Given the description of an element on the screen output the (x, y) to click on. 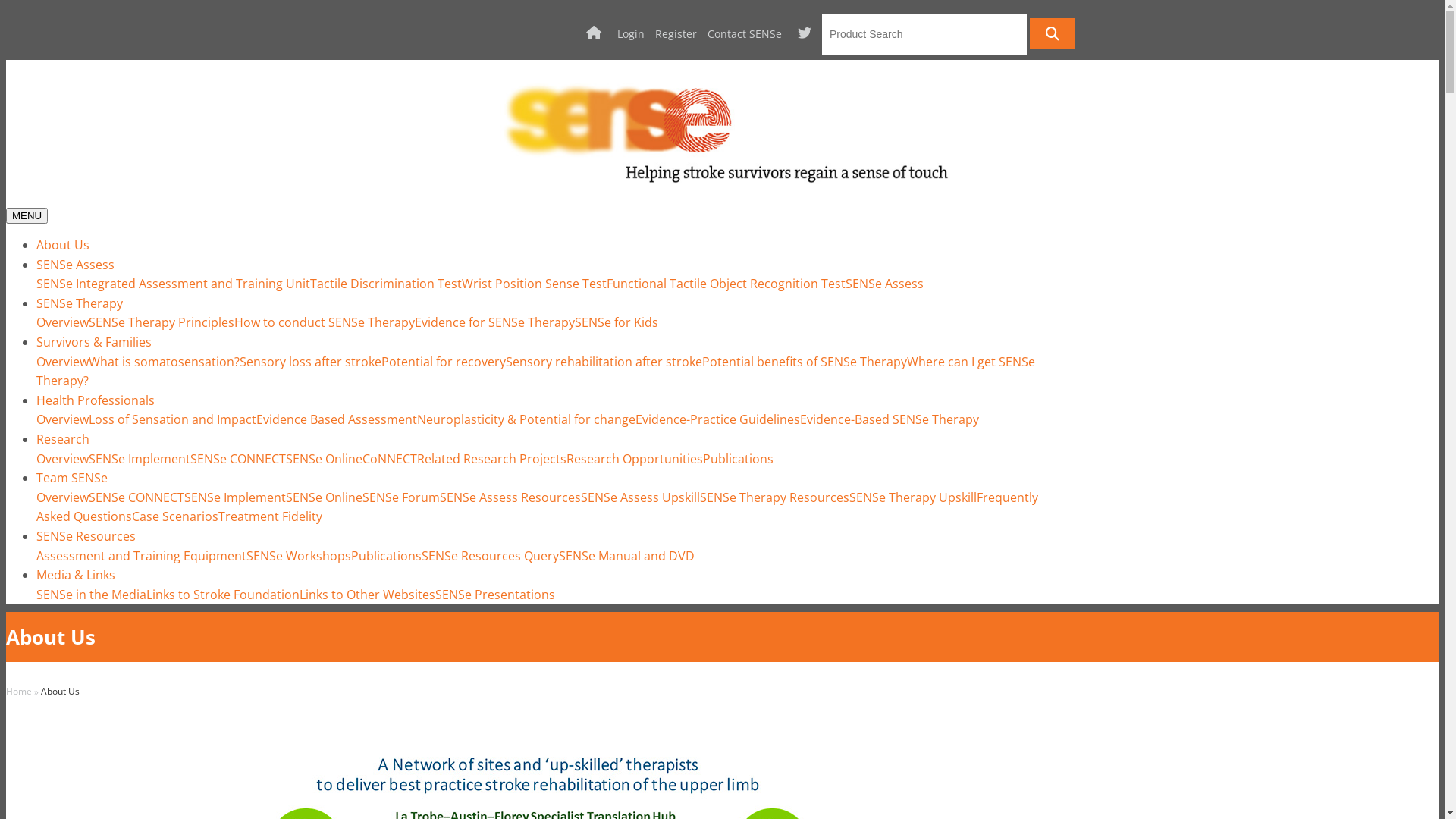
Case Scenarios Element type: text (174, 516)
SENSe Forum Element type: text (400, 497)
Home Element type: text (18, 690)
About Us Element type: text (62, 244)
SENSe Presentations Element type: text (495, 594)
Overview Element type: text (62, 361)
SENSe Online Element type: text (323, 458)
SENSe Resources Element type: text (85, 535)
CoNNECT Element type: text (389, 458)
Evidence Based Assessment Element type: text (336, 419)
SENSe Resources Query Element type: text (489, 555)
What is somatosensation? Element type: text (163, 361)
Links to Stroke Foundation Element type: text (222, 594)
SENSe in the Media Element type: text (91, 594)
SENSe Therapy Resources Element type: text (774, 497)
Functional Tactile Object Recognition Test Element type: text (725, 283)
Research Opportunities Element type: text (634, 458)
SENSe Assess Element type: text (75, 264)
Loss of Sensation and Impact Element type: text (172, 419)
Assessment and Training Equipment Element type: text (141, 555)
Media & Links Element type: text (75, 574)
Treatment Fidelity Element type: text (270, 516)
SENSe Implement Element type: text (139, 458)
Evidence-Practice Guidelines Element type: text (717, 419)
Overview Element type: text (62, 419)
MENU Element type: text (26, 215)
SENSe Workshops Element type: text (298, 555)
Team SENSe Element type: text (71, 477)
Neuroplasticity & Potential for change Element type: text (526, 419)
Health Professionals Element type: text (95, 400)
Register Element type: text (675, 33)
SENSe Therapy Principles Element type: text (161, 321)
SENSe CONNECT Element type: text (237, 458)
Evidence-Based SENSe Therapy Element type: text (889, 419)
SENSe Manual and DVD Element type: text (626, 555)
Contact SENSe Element type: text (744, 33)
SENSe Assess Resources Element type: text (509, 497)
Related Research Projects Element type: text (491, 458)
Tactile Discrimination Test Element type: text (385, 283)
Potential for recovery Element type: text (443, 361)
SENSe Integrated Assessment and Training Unit Element type: text (173, 283)
How to conduct SENSe Therapy Element type: text (324, 321)
Research Element type: text (62, 438)
Survivors & Families Element type: text (93, 341)
Publications Element type: text (737, 458)
Login Element type: text (630, 33)
SENSe Therapy Element type: text (79, 302)
Overview Element type: text (62, 458)
Where can I get SENSe Therapy? Element type: text (535, 371)
SENSe Implement Element type: text (234, 497)
Potential benefits of SENSe Therapy Element type: text (804, 361)
SENSe Assess Element type: text (884, 283)
Frequently Asked Questions Element type: text (537, 507)
SENSe CONNECT Element type: text (136, 497)
SENSe for Kids Element type: text (616, 321)
Overview Element type: text (62, 321)
Evidence for SENSe Therapy Element type: text (494, 321)
Publications Element type: text (386, 555)
SENSe Therapy Upskill Element type: text (912, 497)
SENSe Assess Upskill Element type: text (639, 497)
Wrist Position Sense Test Element type: text (533, 283)
Overview Element type: text (62, 497)
Links to Other Websites Element type: text (367, 594)
SENSe Online Element type: text (323, 497)
Sensory loss after stroke Element type: text (310, 361)
Sensory rehabilitation after stroke Element type: text (603, 361)
